Given the description of an element on the screen output the (x, y) to click on. 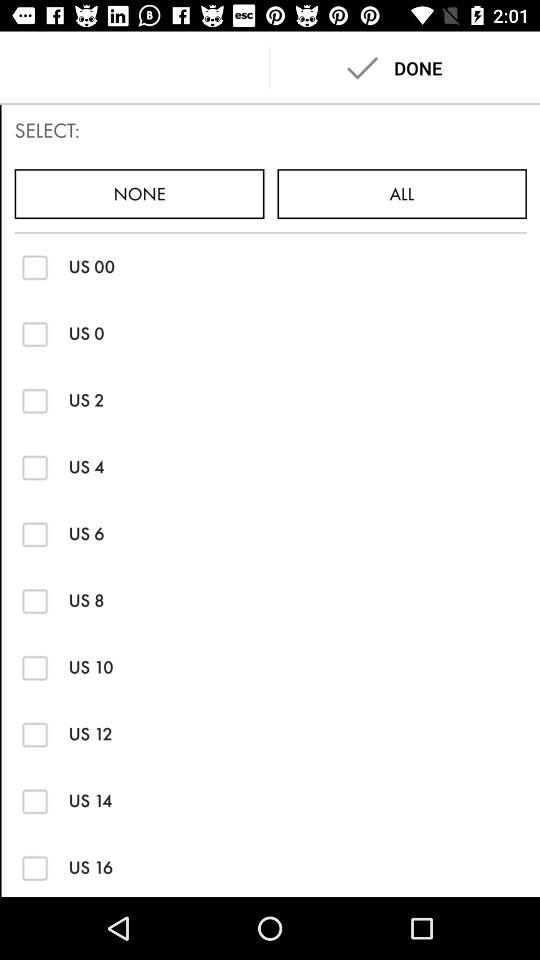
check option box (34, 266)
